Given the description of an element on the screen output the (x, y) to click on. 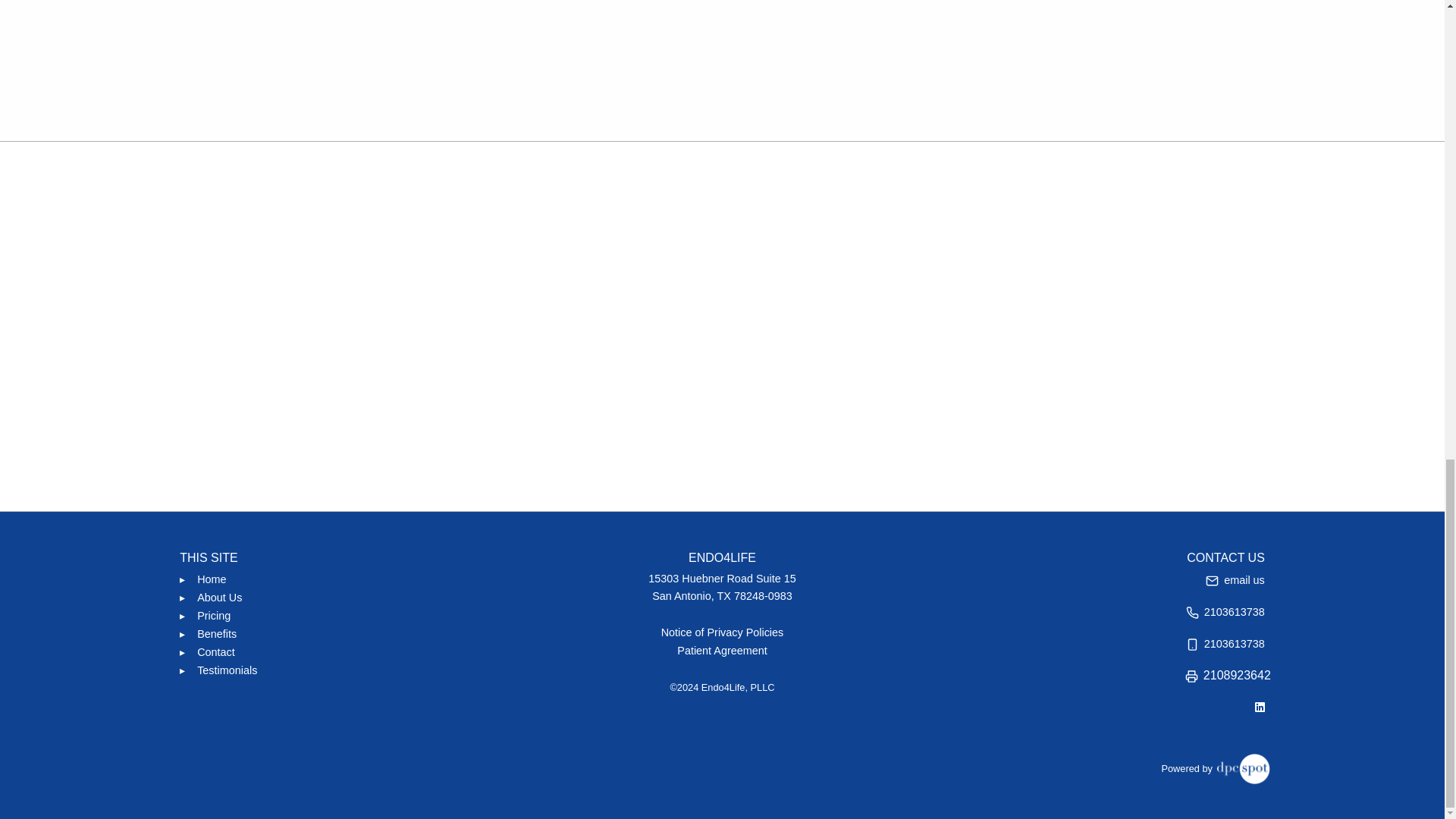
Contact (215, 651)
2103613738 (1225, 611)
Testimonials (226, 670)
Notice of Privacy Policies (722, 631)
email us (1235, 580)
2103613738 (1225, 643)
Benefits (216, 633)
Home (210, 579)
Powered by (1214, 767)
Pricing (212, 615)
About Us (218, 597)
Patient Agreement (722, 650)
